Given the description of an element on the screen output the (x, y) to click on. 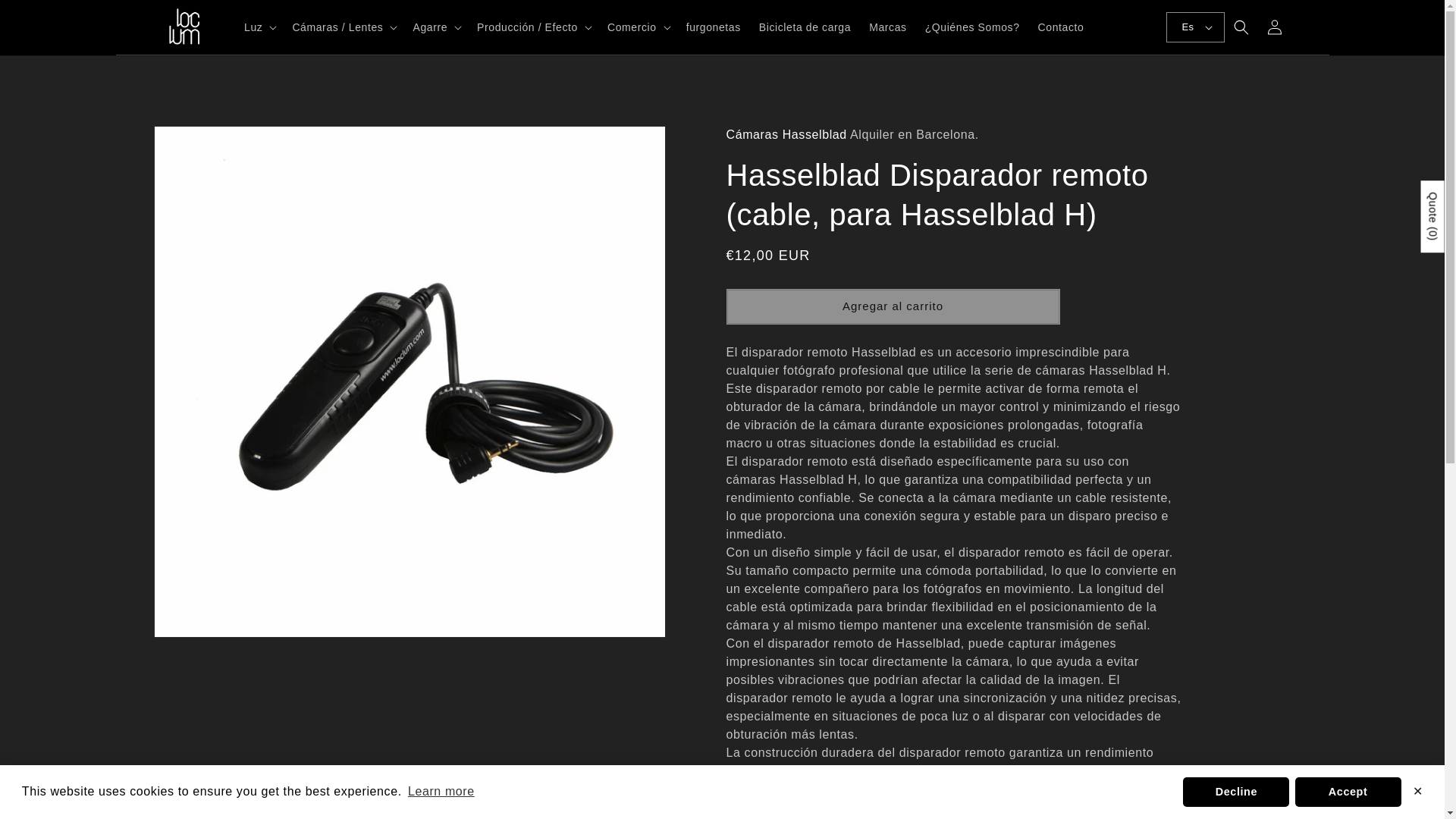
Ir directamente al contenido (45, 17)
Learn more (441, 791)
Decline (1235, 791)
Accept (1347, 791)
